Given the description of an element on the screen output the (x, y) to click on. 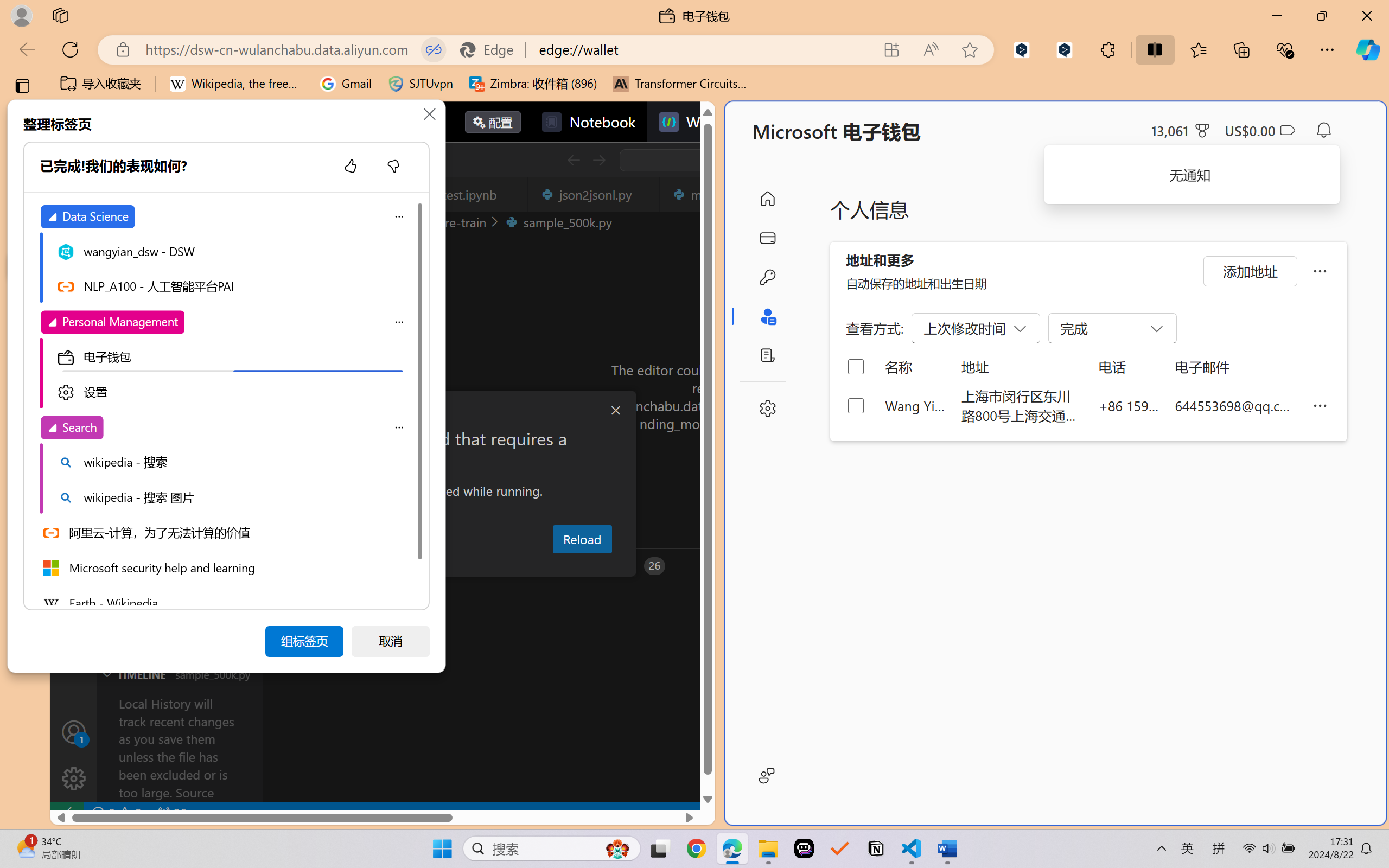
WebIDE (698, 121)
Terminal actions (1002, 565)
Go Forward (Alt+RightArrow) (598, 159)
main.py (717, 194)
Edge (492, 49)
